Given the description of an element on the screen output the (x, y) to click on. 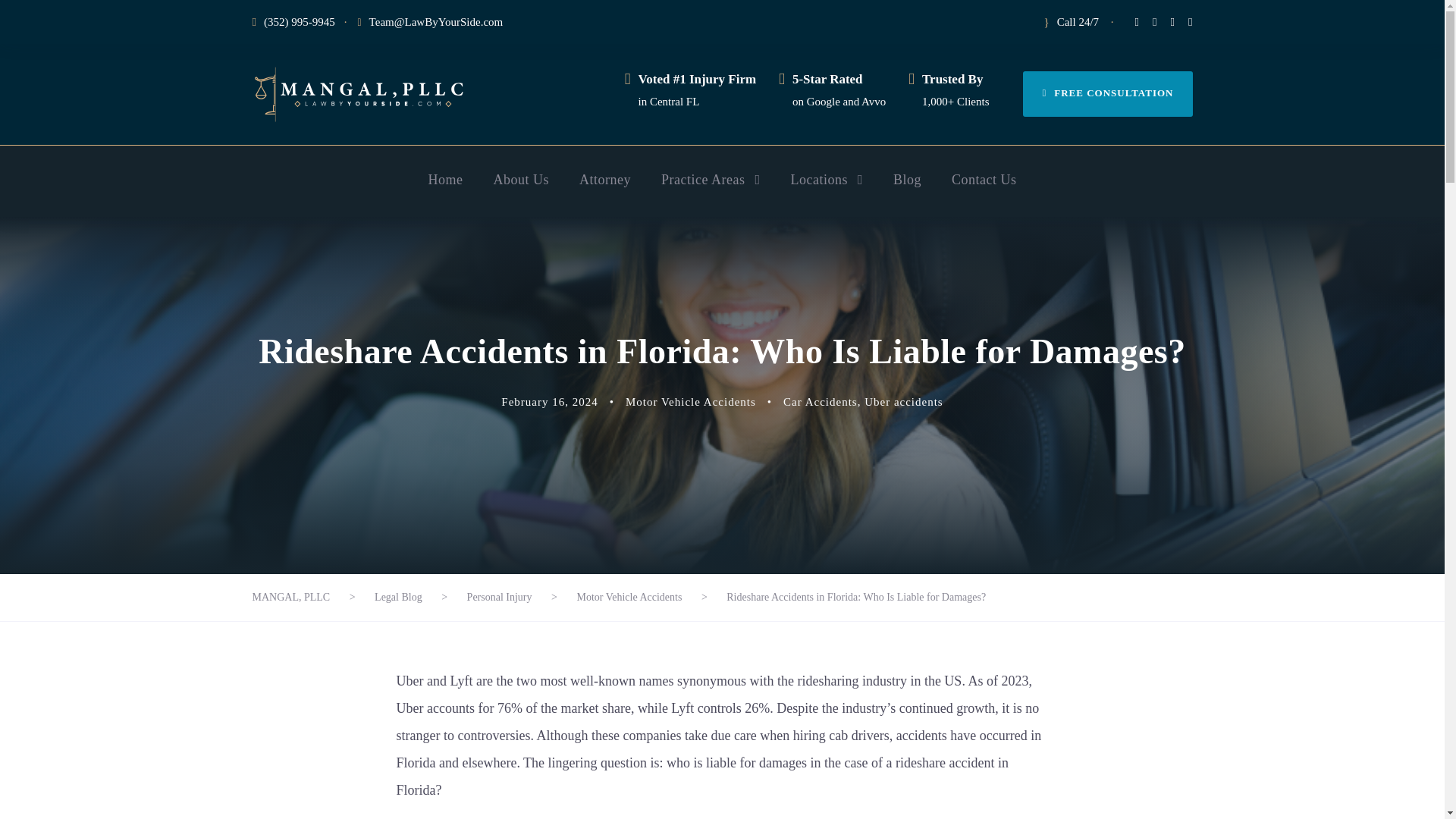
Go to Legal Blog. (398, 596)
Go to the Motor Vehicle Accidents category archives. (628, 596)
Go to MANGAL, PLLC. (290, 596)
Go to the Personal Injury category archives. (499, 596)
MANGAL, PLLC (357, 94)
FREE CONSULTATION (1107, 94)
